Given the description of an element on the screen output the (x, y) to click on. 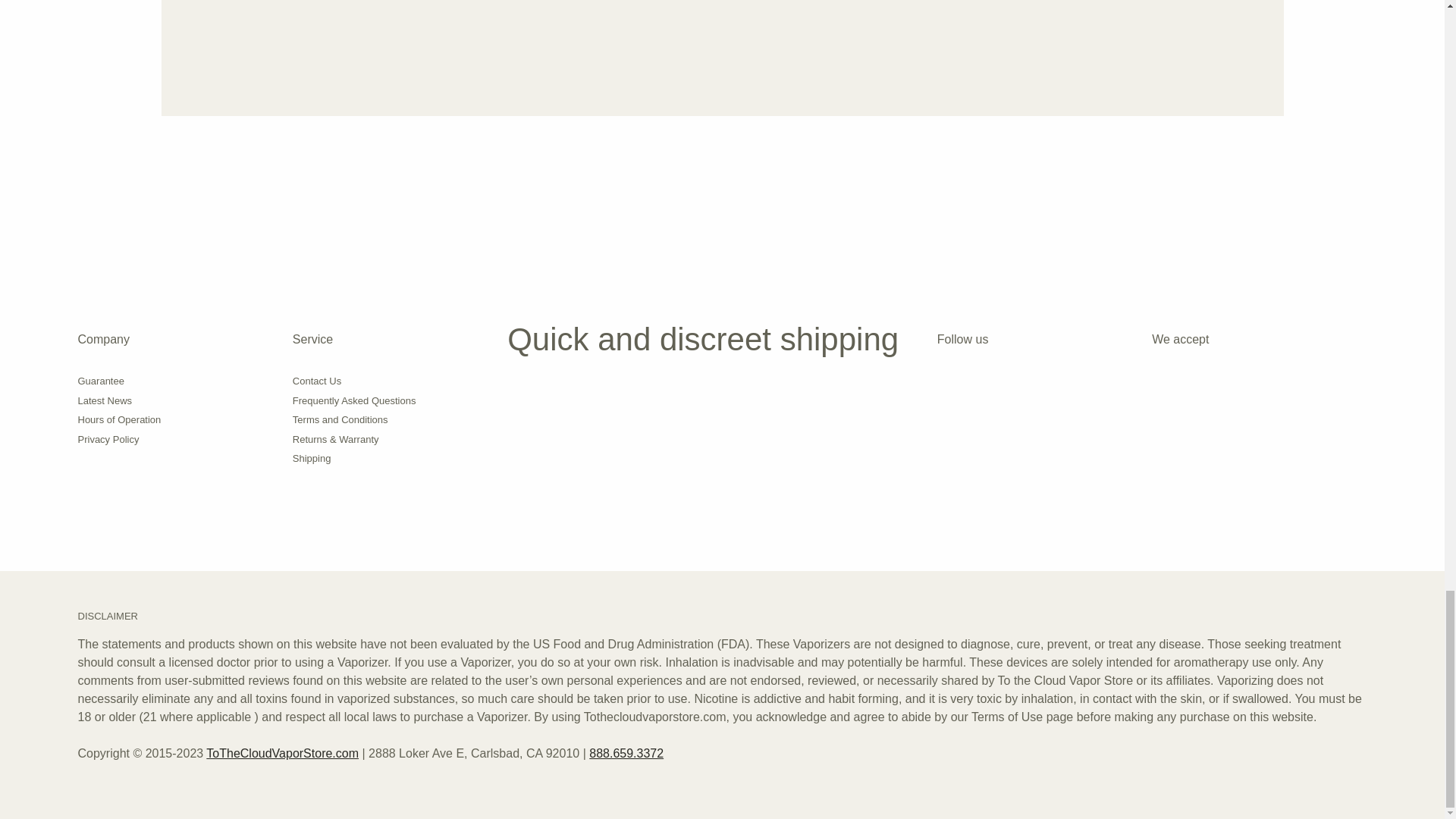
To The Cloud Vapor Store on Facebook (982, 387)
To The Cloud Vapor Store on Twitter (1018, 387)
To The Cloud Vapor Store on Instagram (946, 387)
